Given the description of an element on the screen output the (x, y) to click on. 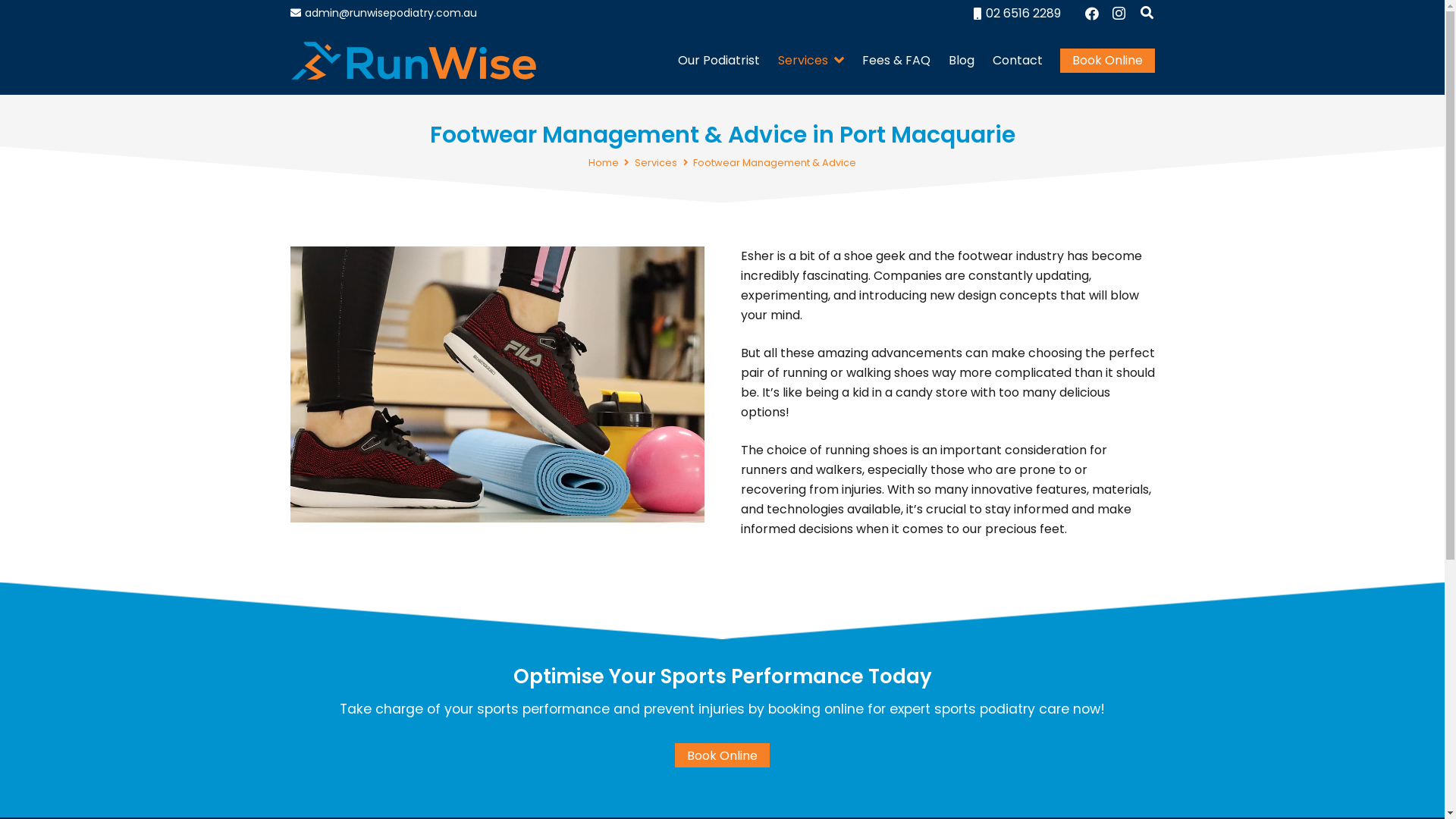
admin@runwisepodiatry.com.au Element type: text (382, 12)
Facebook Element type: hover (1035, 637)
Send an Email Element type: text (448, 621)
Blog Element type: text (961, 60)
Instagram Element type: hover (1118, 13)
02 6516 2289 Element type: text (1016, 12)
Book Online Element type: text (721, 755)
Services Element type: text (810, 60)
Cancellation & Failure to Attend Element type: text (757, 799)
Contact Element type: text (1017, 60)
Fees & FAQ Element type: text (896, 60)
Instagram Element type: hover (1065, 638)
Facebook Element type: hover (1091, 13)
Footwear Management & Advice Element type: text (774, 162)
Our Podiatrist Element type: text (718, 60)
Services Element type: text (655, 162)
02 6516 2289 Element type: text (571, 621)
Email Element type: hover (1095, 637)
Privacy Policy Element type: text (641, 799)
Book Online Element type: text (1107, 60)
Newcastle Creative Co. Element type: text (877, 773)
Book Online Element type: text (492, 664)
Home Element type: text (603, 162)
